Given the description of an element on the screen output the (x, y) to click on. 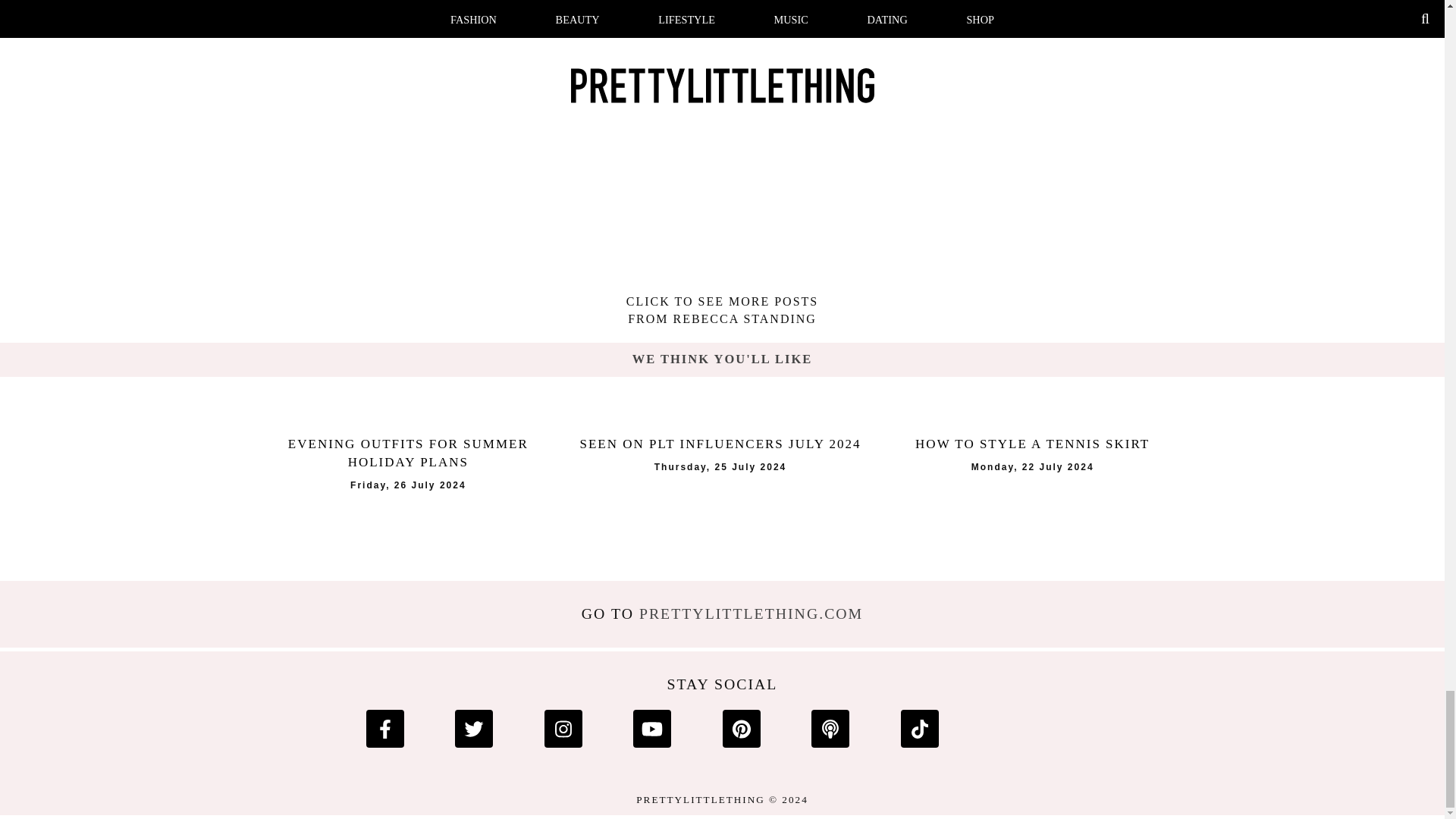
BACK TO ALL POSTS (312, 74)
PREVIOUS (270, 30)
EVENING OUTFITS FOR SUMMER HOLIDAY PLANS (407, 452)
NEXT (1173, 30)
